Given the description of an element on the screen output the (x, y) to click on. 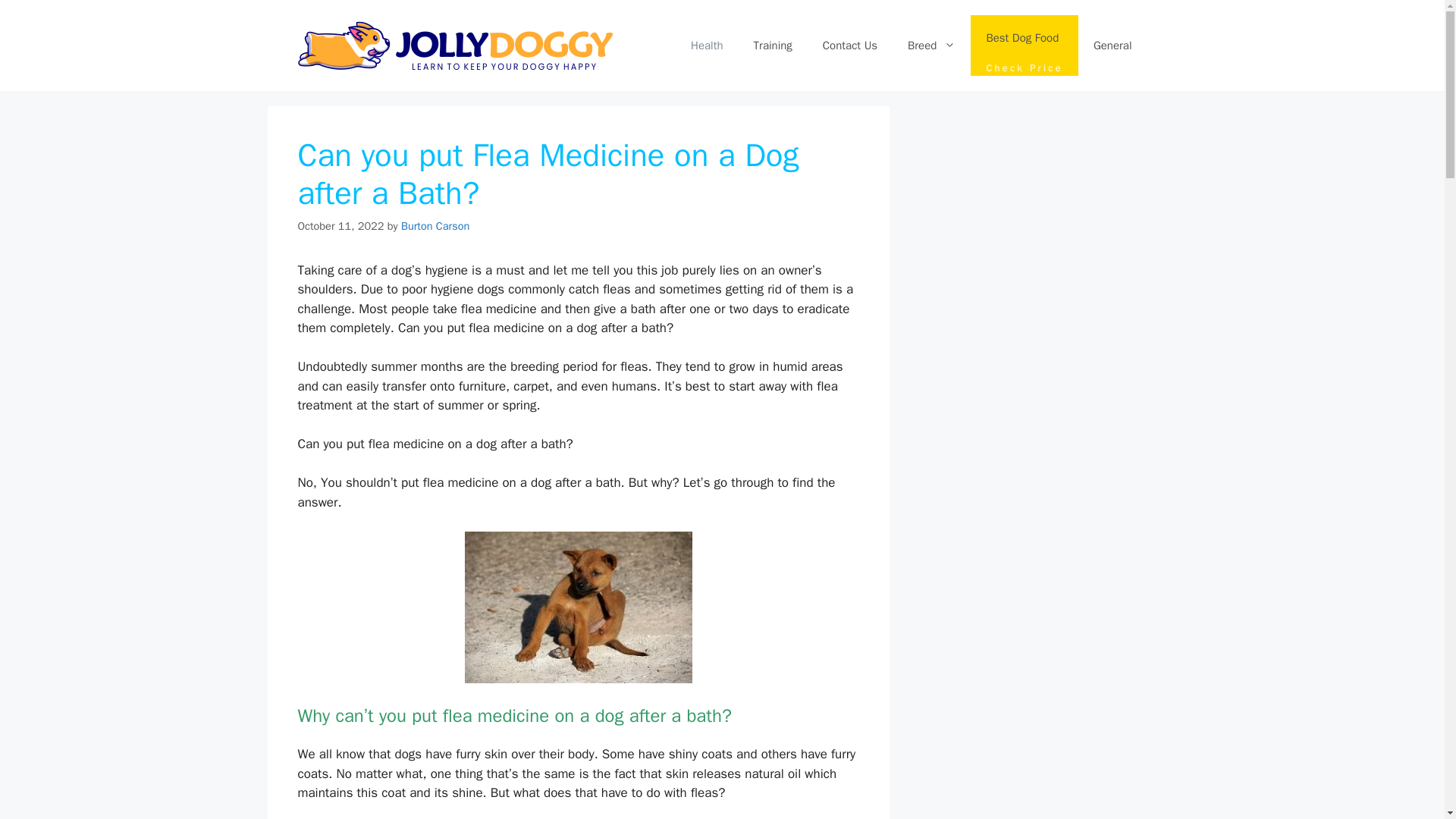
Breed (931, 44)
Contact Us (1024, 45)
Burton Carson (850, 44)
Jolly Doggy (434, 225)
General (454, 44)
Health (1112, 44)
View all posts by Burton Carson (706, 44)
Jolly Doggy (434, 225)
Training (454, 45)
